Given the description of an element on the screen output the (x, y) to click on. 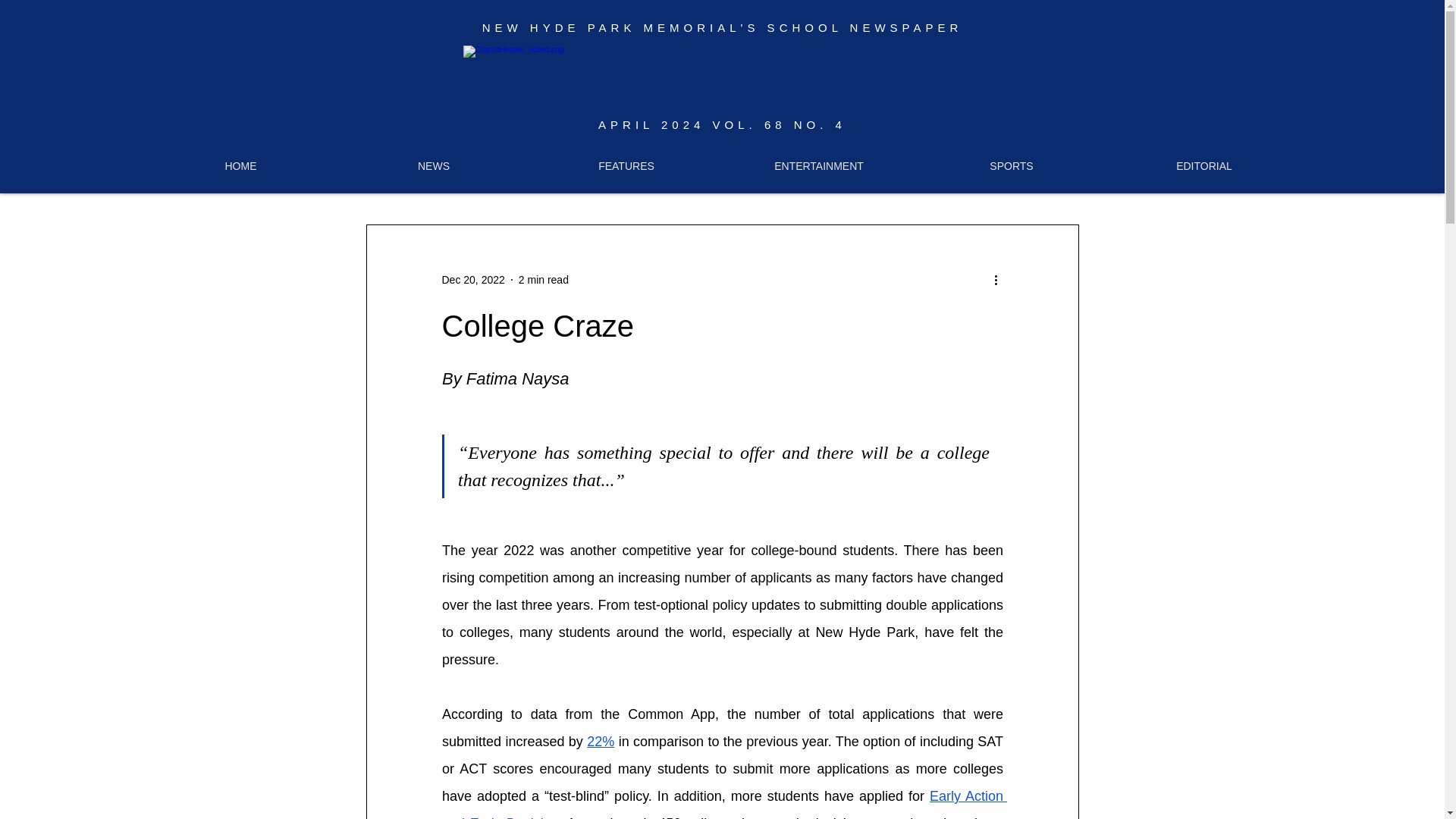
Dec 20, 2022 (472, 278)
APRIL 2024 VOL. 68 NO. 4 (721, 124)
FEATURES (625, 165)
Early Action and Early Decision (723, 803)
NEWS (433, 165)
NEW HYDE PARK MEMORIAL'S SCHOOL NEWSPAPER (721, 27)
HOME (240, 165)
EDITORIAL (1204, 165)
ENTERTAINMENT (818, 165)
2 min read (543, 278)
